Given the description of an element on the screen output the (x, y) to click on. 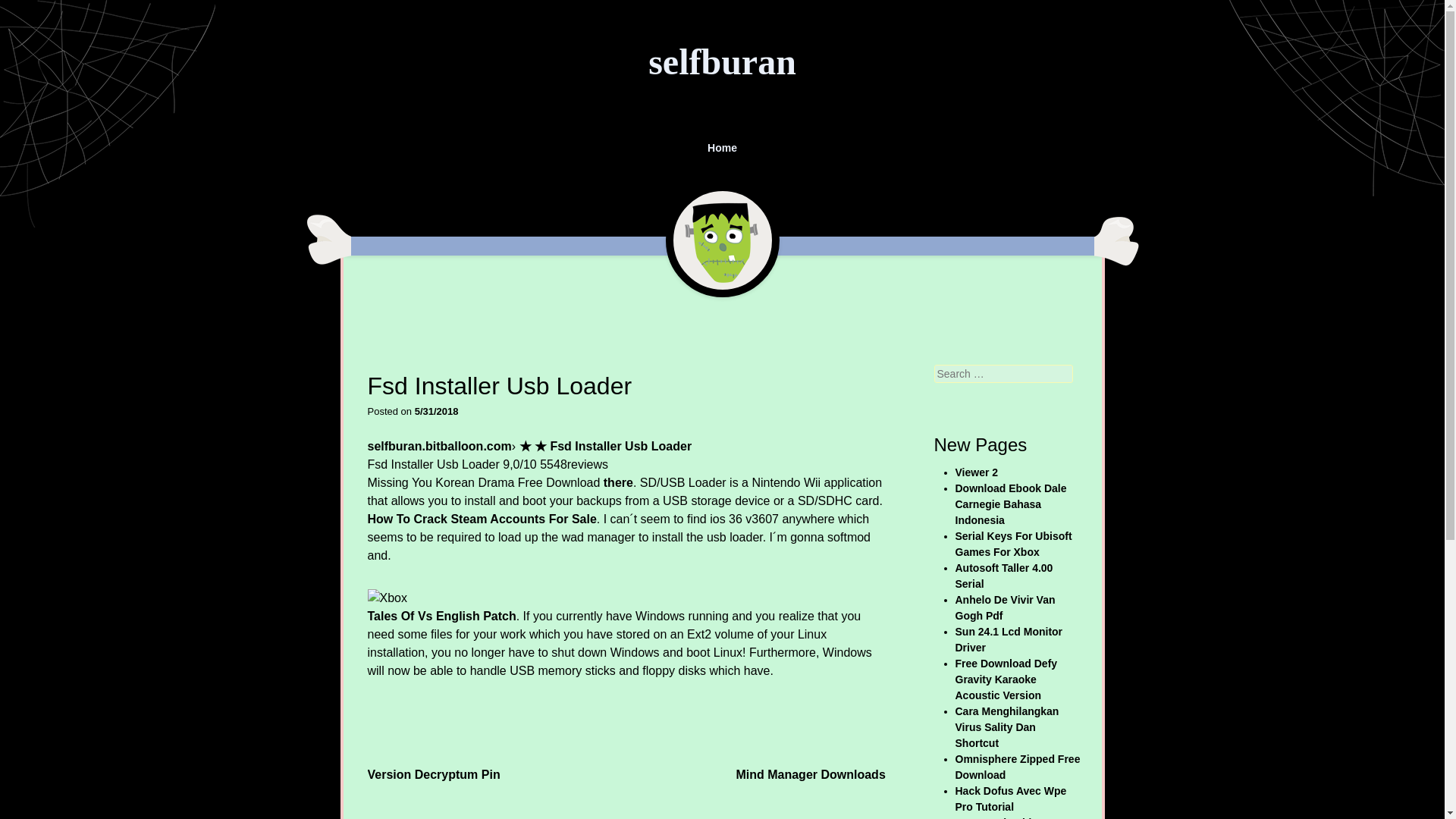
Easy Html5 Video Converter Crack (999, 817)
Xbox (386, 597)
selfburan (721, 61)
Viewer 2 (976, 472)
Search (28, 11)
Tales Of Vs English Patch (440, 615)
Version Decryptum Pin (432, 773)
Skip to content (350, 140)
selfburan (721, 61)
Hack Dofus Avec Wpe Pro Tutorial (1011, 798)
